Given the description of an element on the screen output the (x, y) to click on. 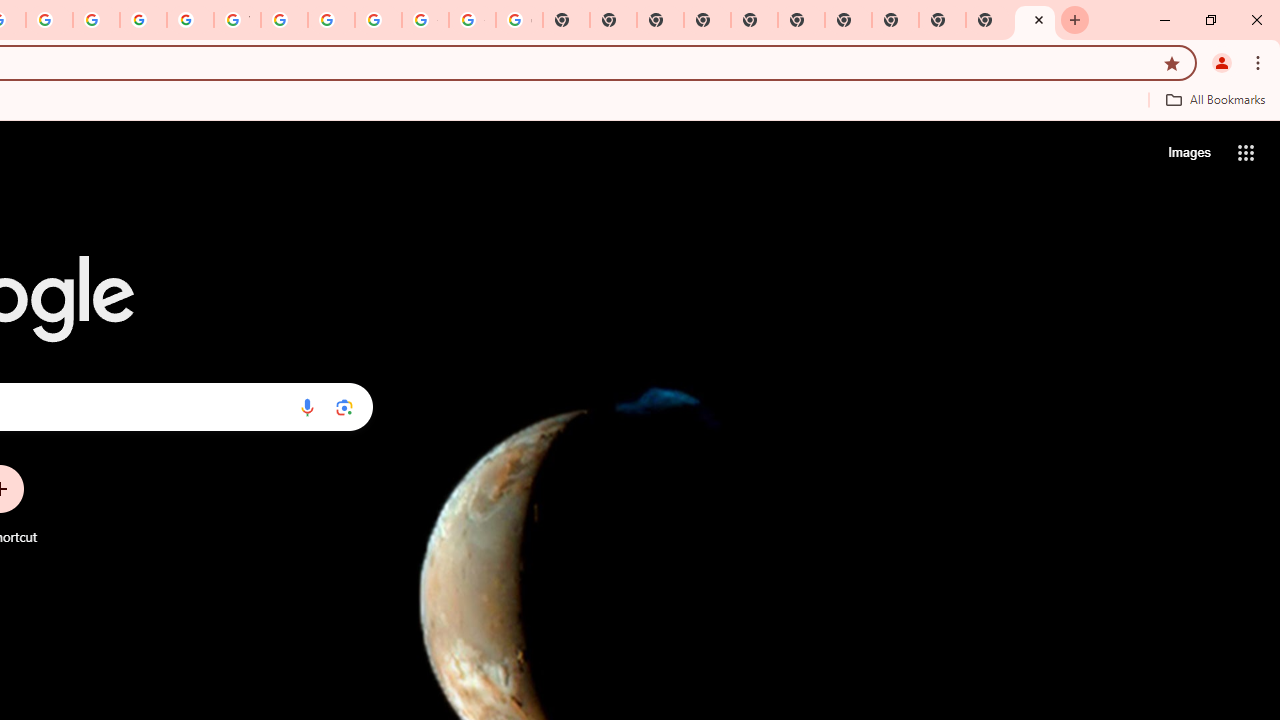
New Tab (942, 20)
All Bookmarks (1215, 99)
Browse Chrome as a guest - Computer - Google Chrome Help (284, 20)
YouTube (237, 20)
New Tab (706, 20)
New Tab (1035, 20)
Search by voice (307, 407)
